Given the description of an element on the screen output the (x, y) to click on. 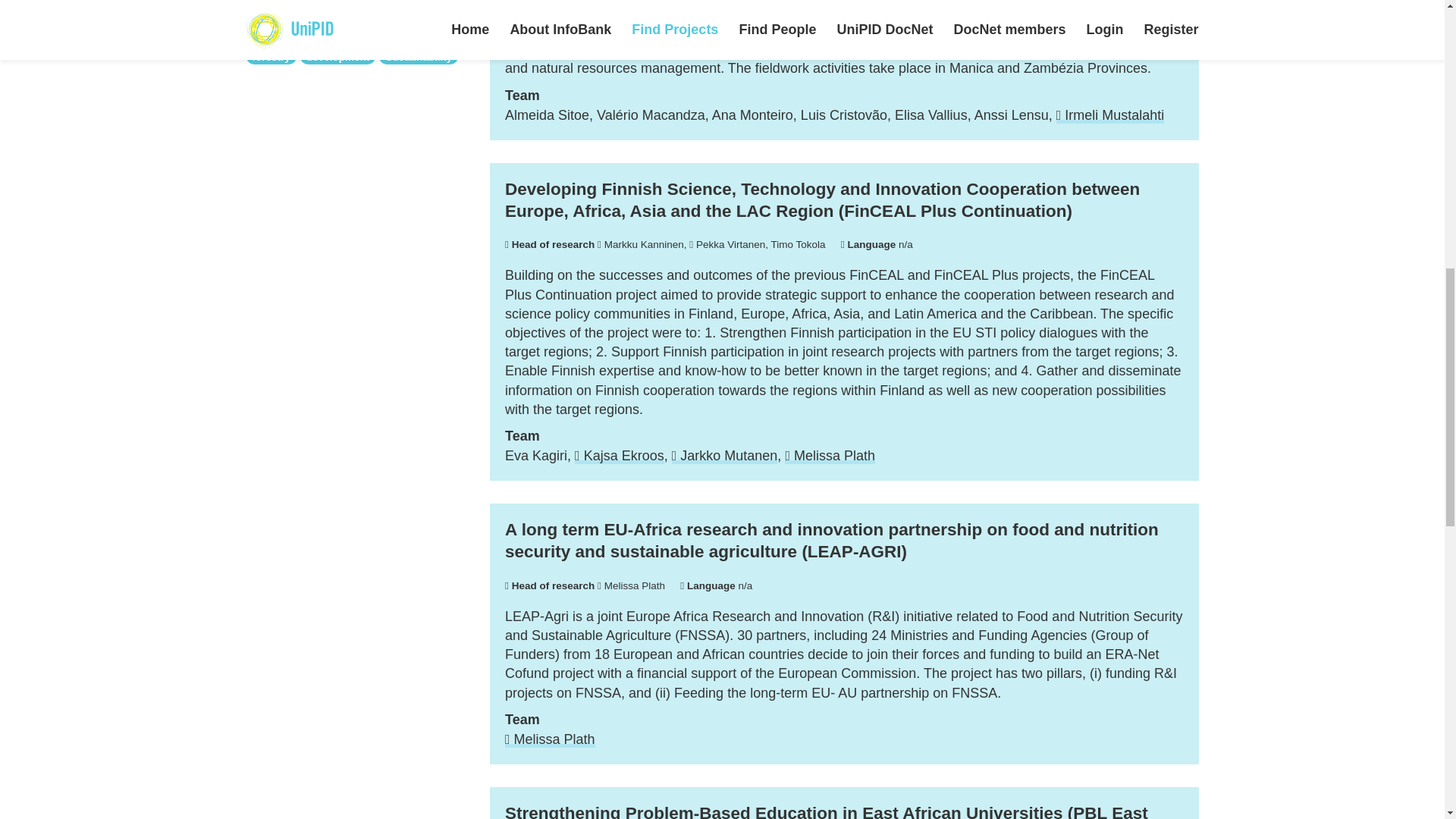
renewable energy (294, 14)
climate change (389, 1)
capacity building (293, 1)
